Given the description of an element on the screen output the (x, y) to click on. 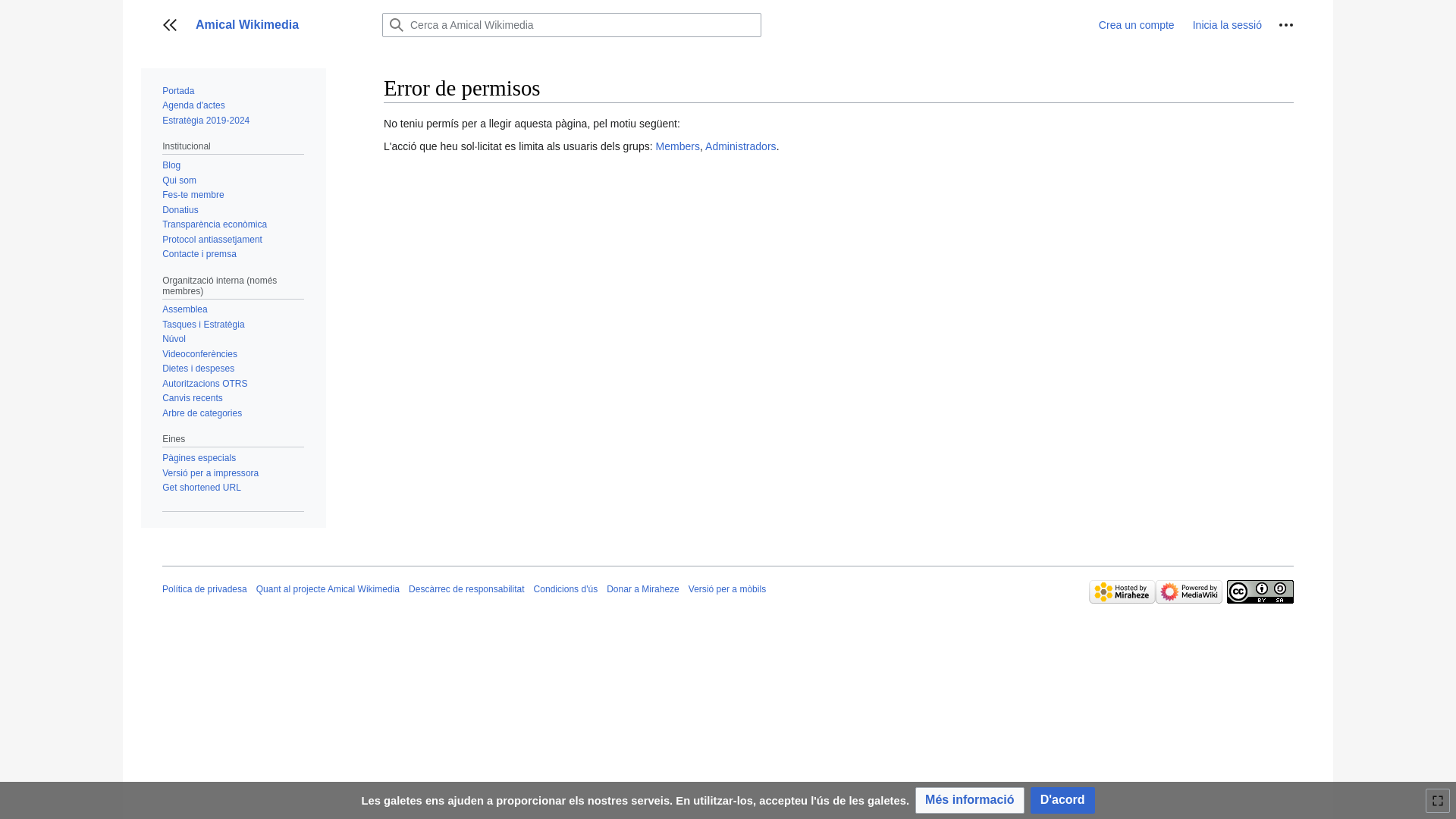
Canvis recents Element type: text (192, 397)
Quant al projecte Amical Wikimedia Element type: text (327, 588)
Amical Wikimedia Element type: text (279, 24)
Fes-te membre Element type: text (193, 194)
Dietes i despeses Element type: text (198, 368)
Crea un compte Element type: text (1136, 24)
Qui som Element type: text (179, 180)
Blog Element type: text (171, 165)
Cerca Element type: text (396, 24)
Agenda d'actes Element type: text (193, 105)
Protocol antiassetjament Element type: text (212, 239)
Donatius Element type: text (180, 209)
Administradors Element type: text (740, 146)
Get shortened URL Element type: text (201, 487)
Members Element type: text (677, 146)
Donar a Miraheze Element type: text (642, 588)
Arbre de categories Element type: text (201, 412)
D'acord Element type: text (1062, 800)
Cerca a Amical Wikimedia [alt-shift-f] Element type: hover (571, 24)
Autoritzacions OTRS Element type: text (204, 383)
Portada Element type: text (178, 90)
Contacte i premsa Element type: text (199, 253)
Assemblea Element type: text (184, 309)
